Given the description of an element on the screen output the (x, y) to click on. 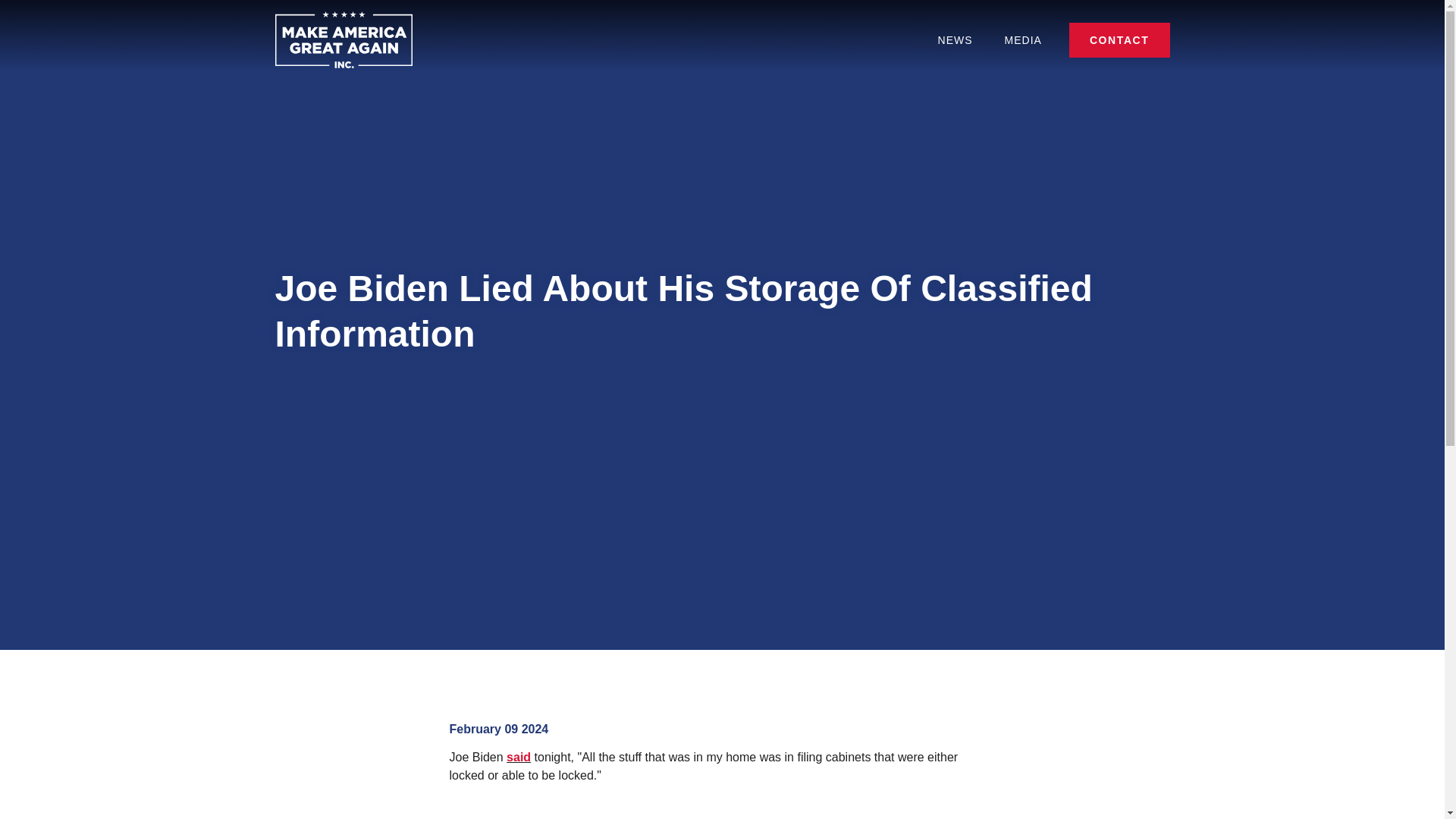
said (518, 757)
Back to Home Page (343, 39)
NEWS (954, 39)
CONTACT (1119, 39)
MEDIA (1023, 39)
